Given the description of an element on the screen output the (x, y) to click on. 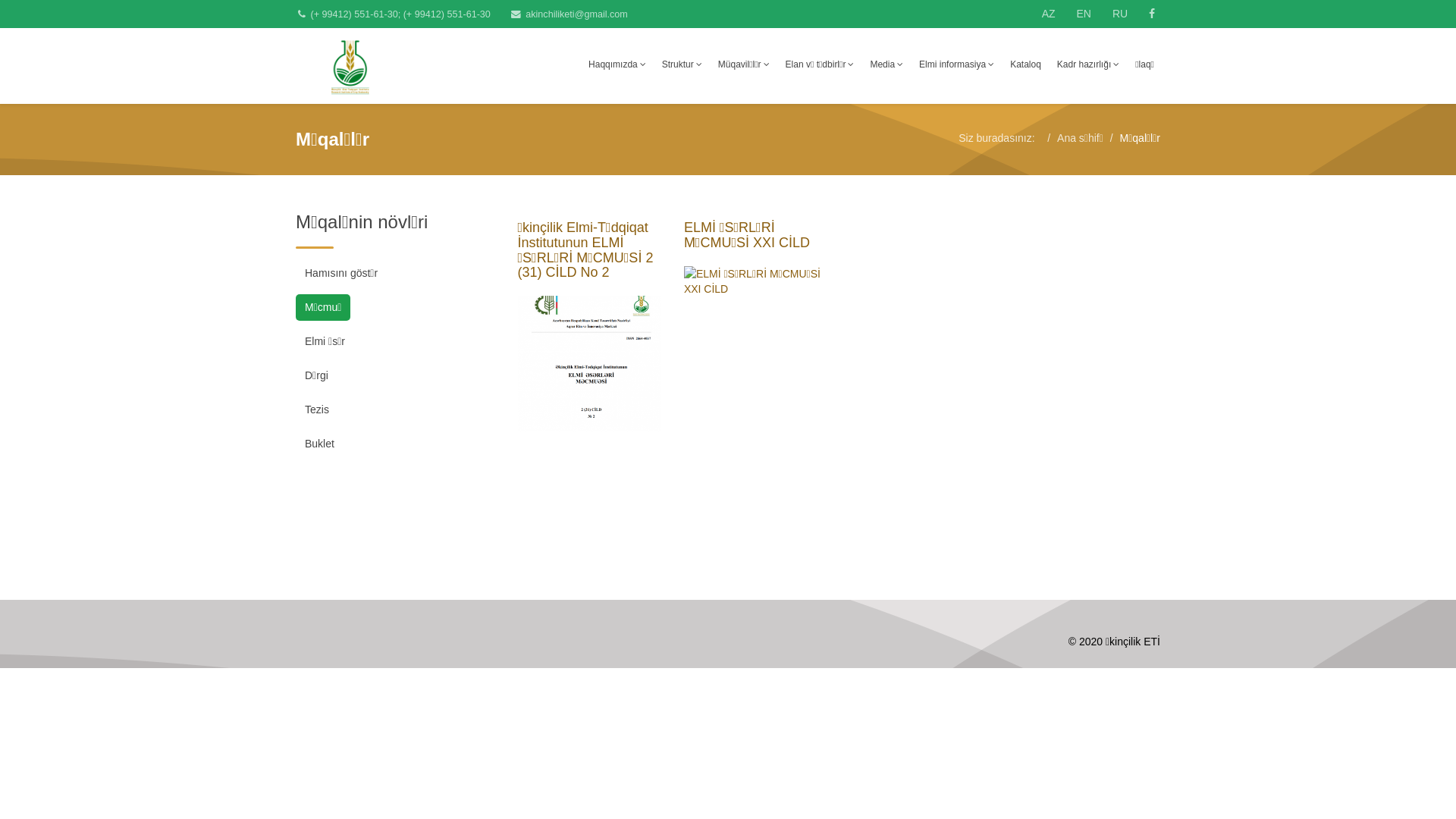
Buklet Element type: text (319, 443)
Media Element type: text (886, 64)
RU Element type: text (1119, 13)
Kataloq Element type: text (1025, 64)
Tezis Element type: text (316, 409)
EN Element type: text (1083, 13)
Struktur Element type: text (681, 64)
Elmi informasiya Element type: text (956, 64)
AZ Element type: text (1048, 13)
akinchiliketi@gmail.com Element type: text (576, 14)
